Given the description of an element on the screen output the (x, y) to click on. 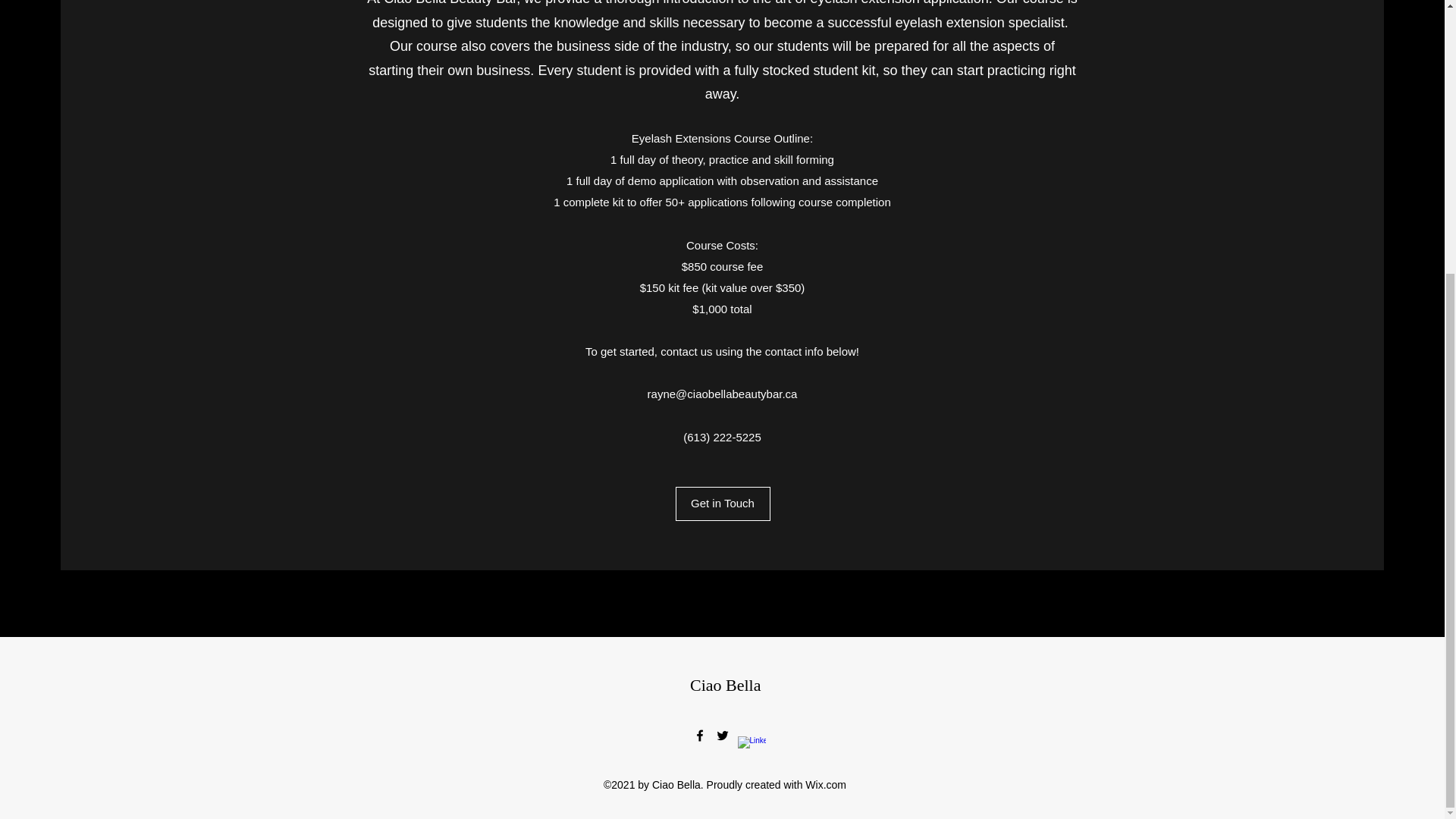
Get in Touch (722, 503)
